Given the description of an element on the screen output the (x, y) to click on. 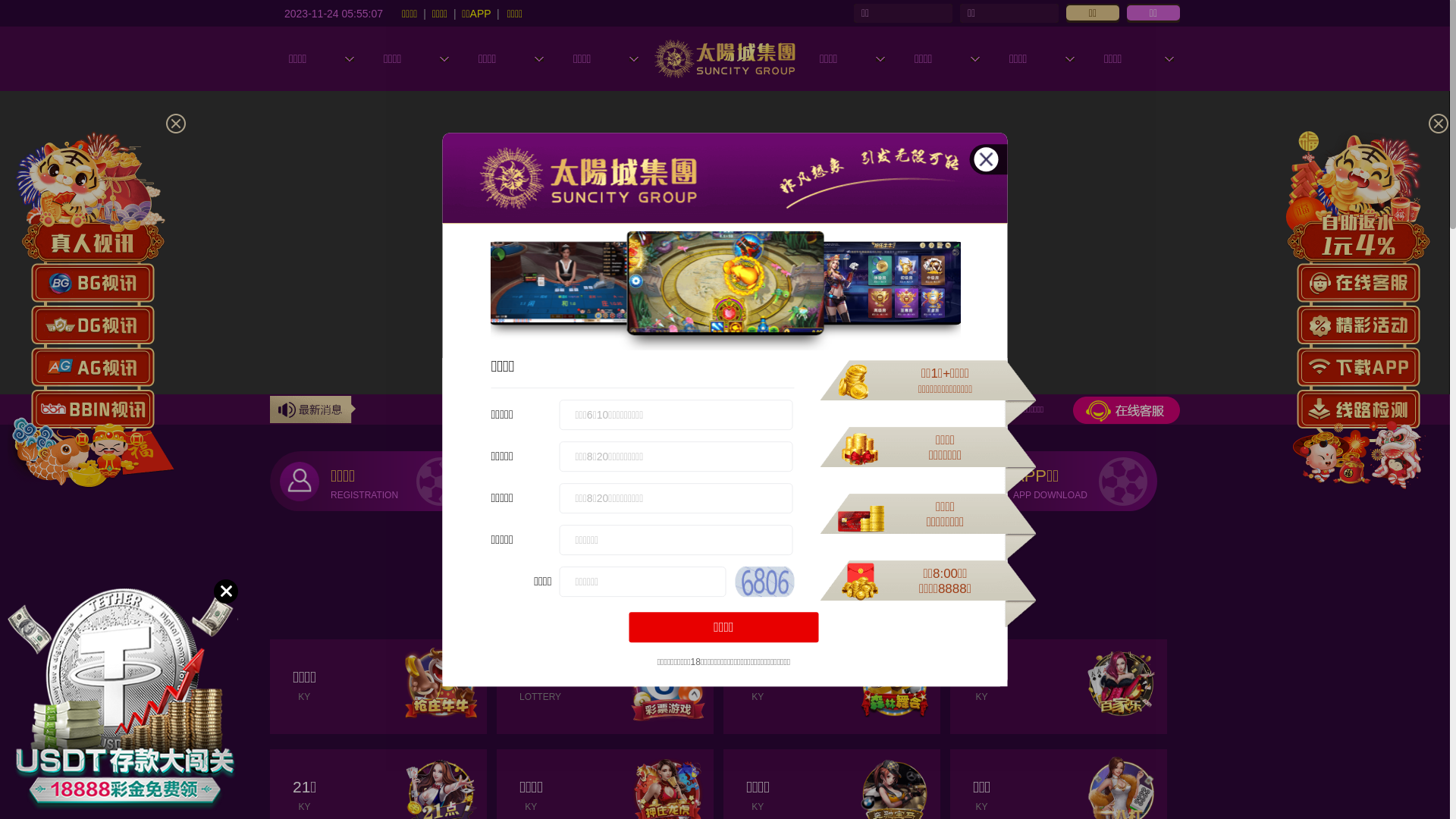
2023-11-24 05:55:04 Element type: text (333, 12)
